Given the description of an element on the screen output the (x, y) to click on. 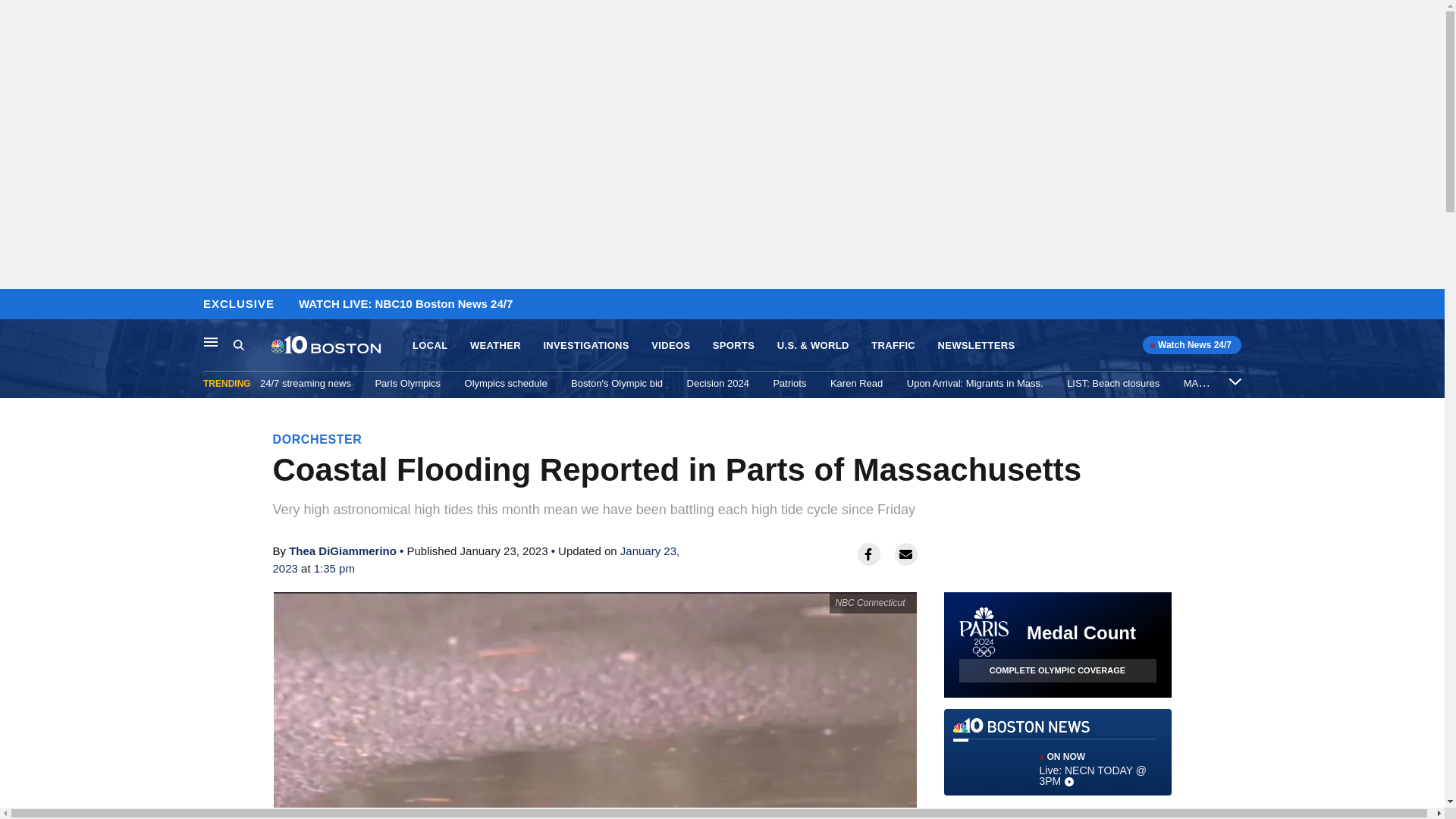
Skip to content (16, 304)
Karen Read (855, 383)
SPORTS (733, 345)
Search (252, 345)
Paris Olympics (407, 383)
LOCAL (429, 345)
Decision 2024 (718, 383)
WEATHER (495, 345)
Upon Arrival: Migrants in Mass. (975, 383)
Patriots (789, 383)
TRAFFIC (892, 345)
VIDEOS (670, 345)
Olympics schedule (505, 383)
Expand (1234, 381)
Search (238, 344)
